Given the description of an element on the screen output the (x, y) to click on. 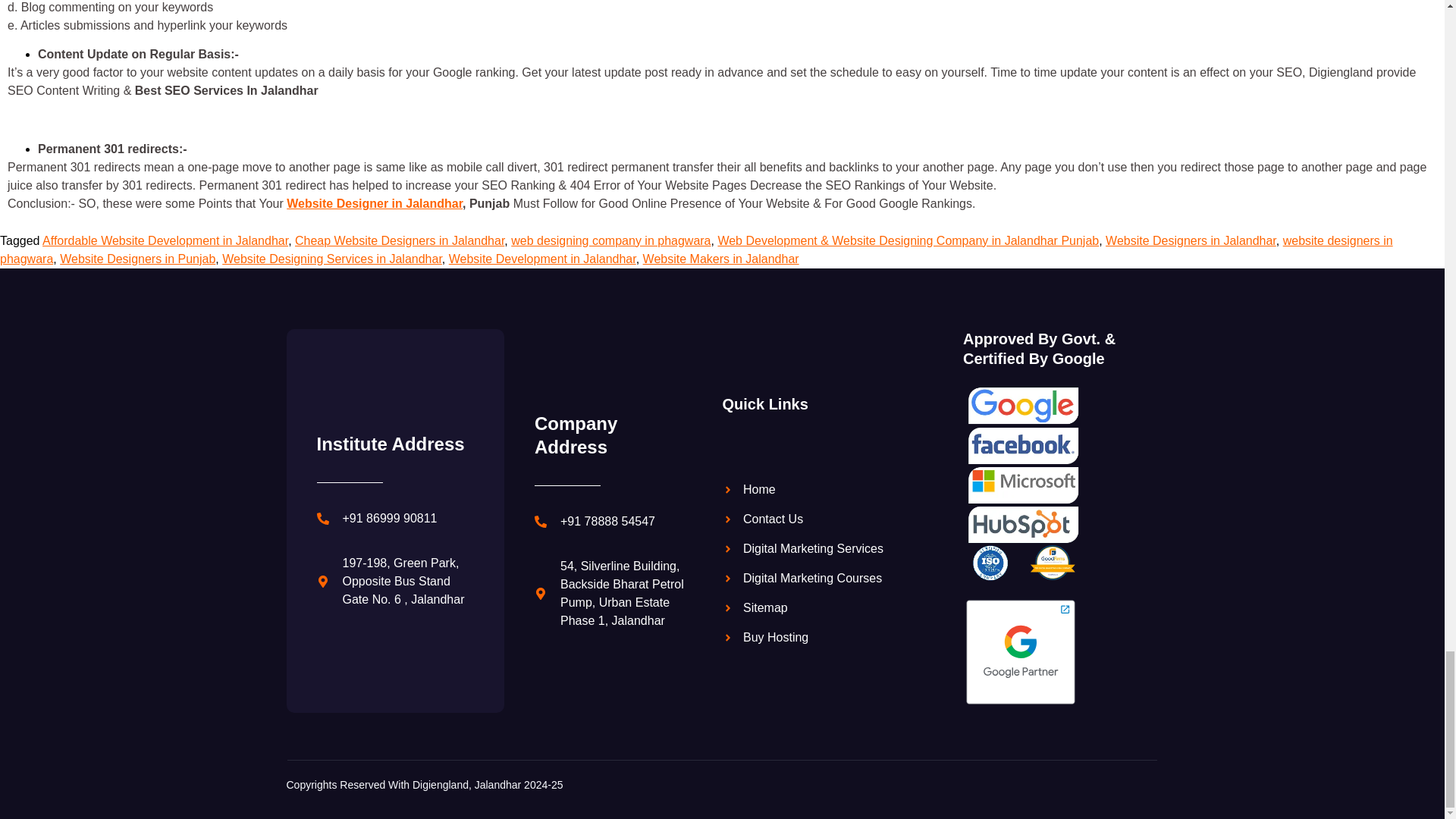
Website Designer in Jalandhar (374, 203)
